Given the description of an element on the screen output the (x, y) to click on. 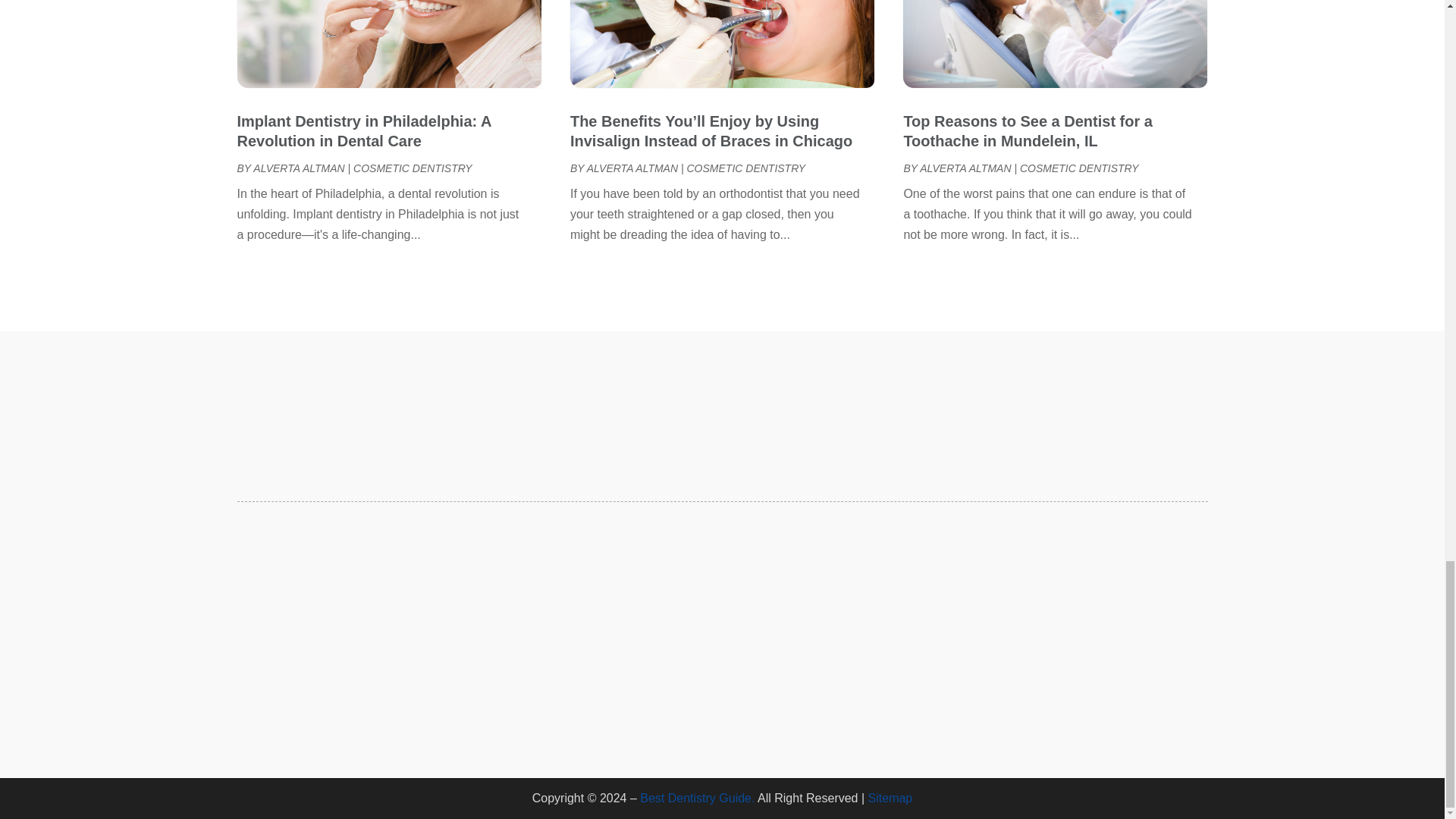
Posts by Alverta Altman (965, 168)
Posts by Alverta Altman (298, 168)
Posts by Alverta Altman (632, 168)
